Given the description of an element on the screen output the (x, y) to click on. 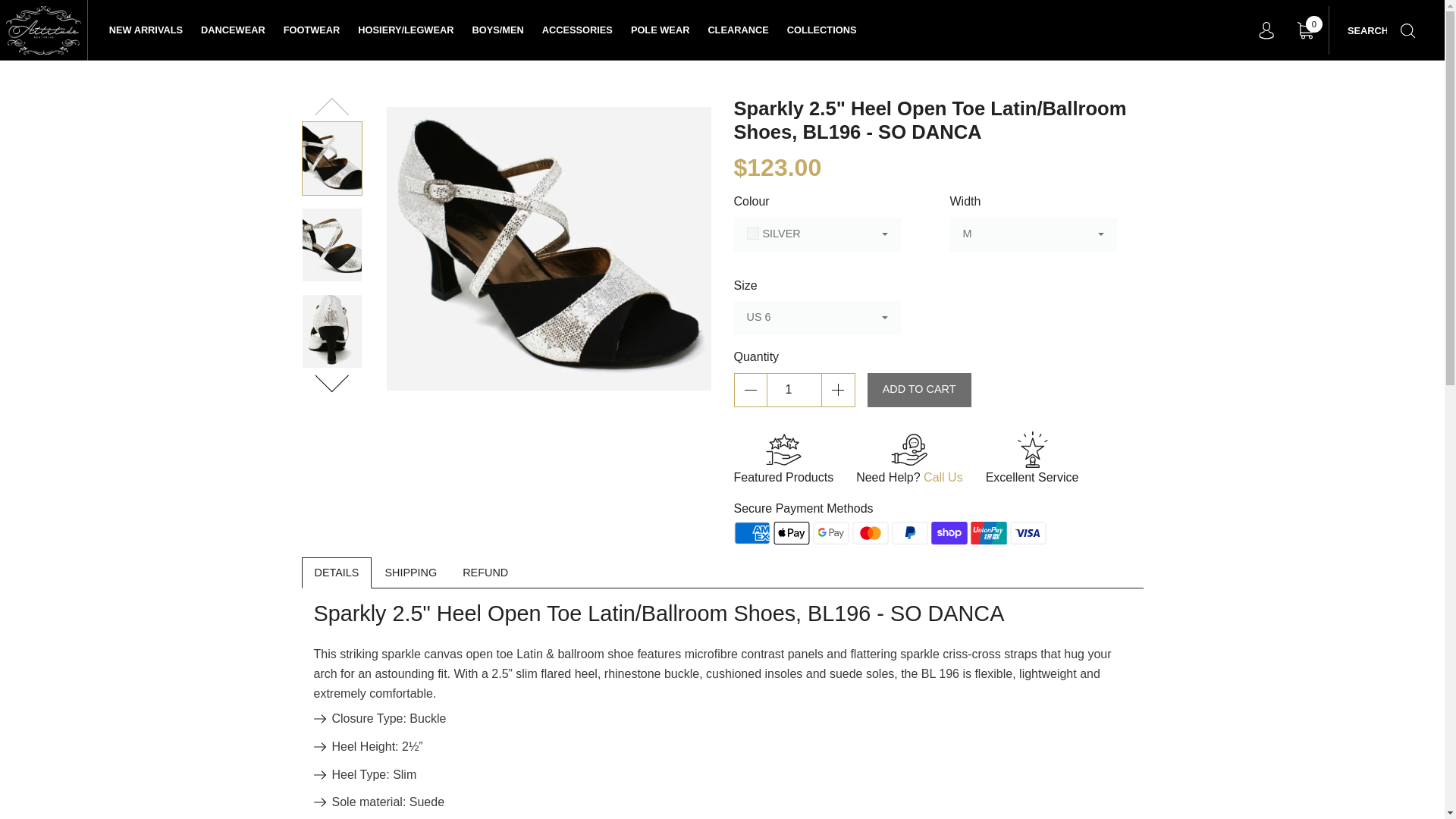
US 6 (817, 317)
Union Pay (989, 532)
Google Pay (830, 532)
PayPal (909, 532)
silver (817, 234)
Visa (1028, 532)
Shop Pay (949, 532)
1 (794, 390)
Apple Pay (791, 532)
Mastercard (869, 532)
M (1032, 234)
American Express (751, 532)
